Given the description of an element on the screen output the (x, y) to click on. 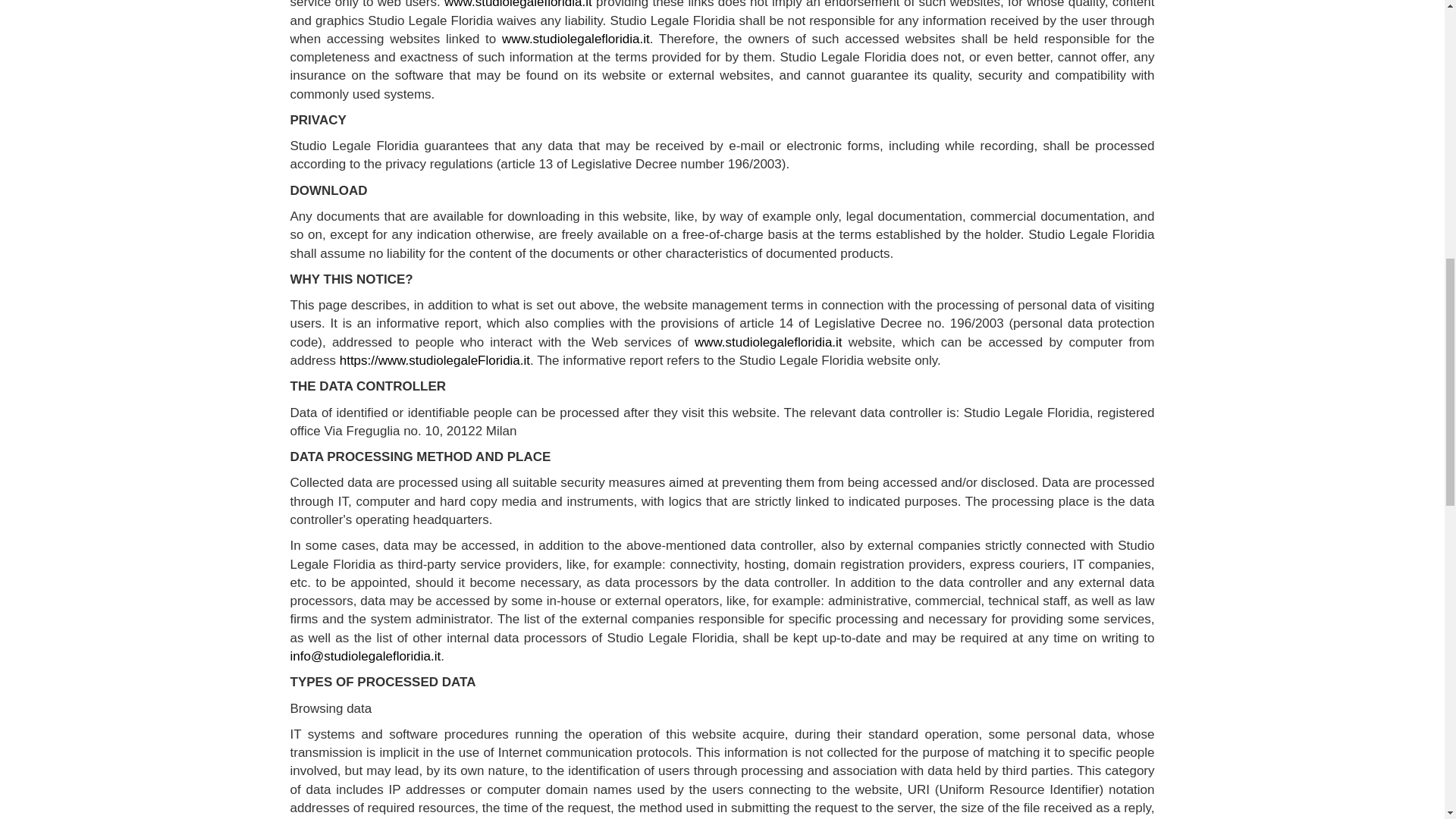
www.studiolegalefloridia.it (768, 341)
www.studiolegalefloridia.it (518, 4)
www.studiolegalefloridia.it (575, 38)
